Given the description of an element on the screen output the (x, y) to click on. 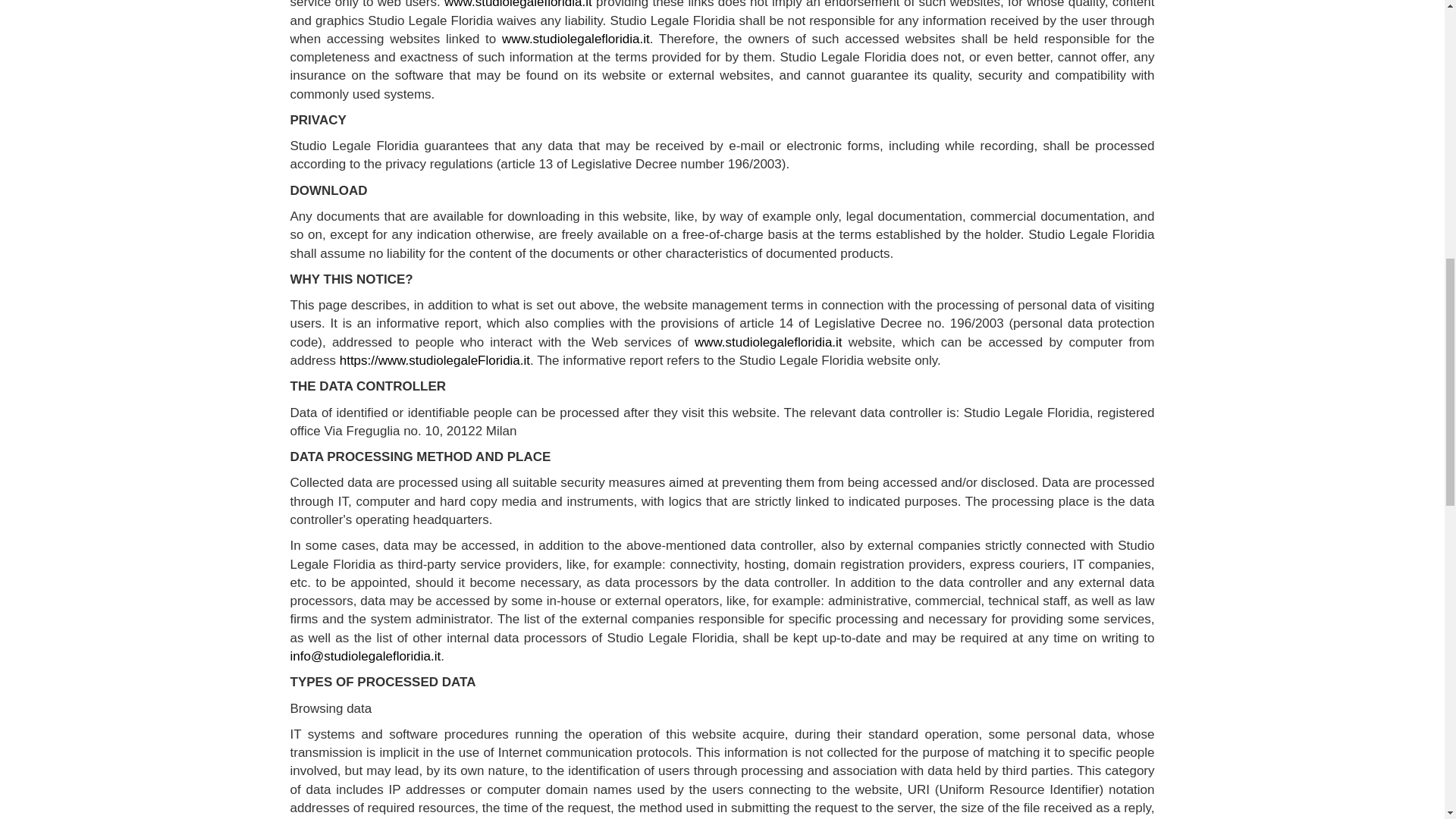
www.studiolegalefloridia.it (768, 341)
www.studiolegalefloridia.it (518, 4)
www.studiolegalefloridia.it (575, 38)
